Given the description of an element on the screen output the (x, y) to click on. 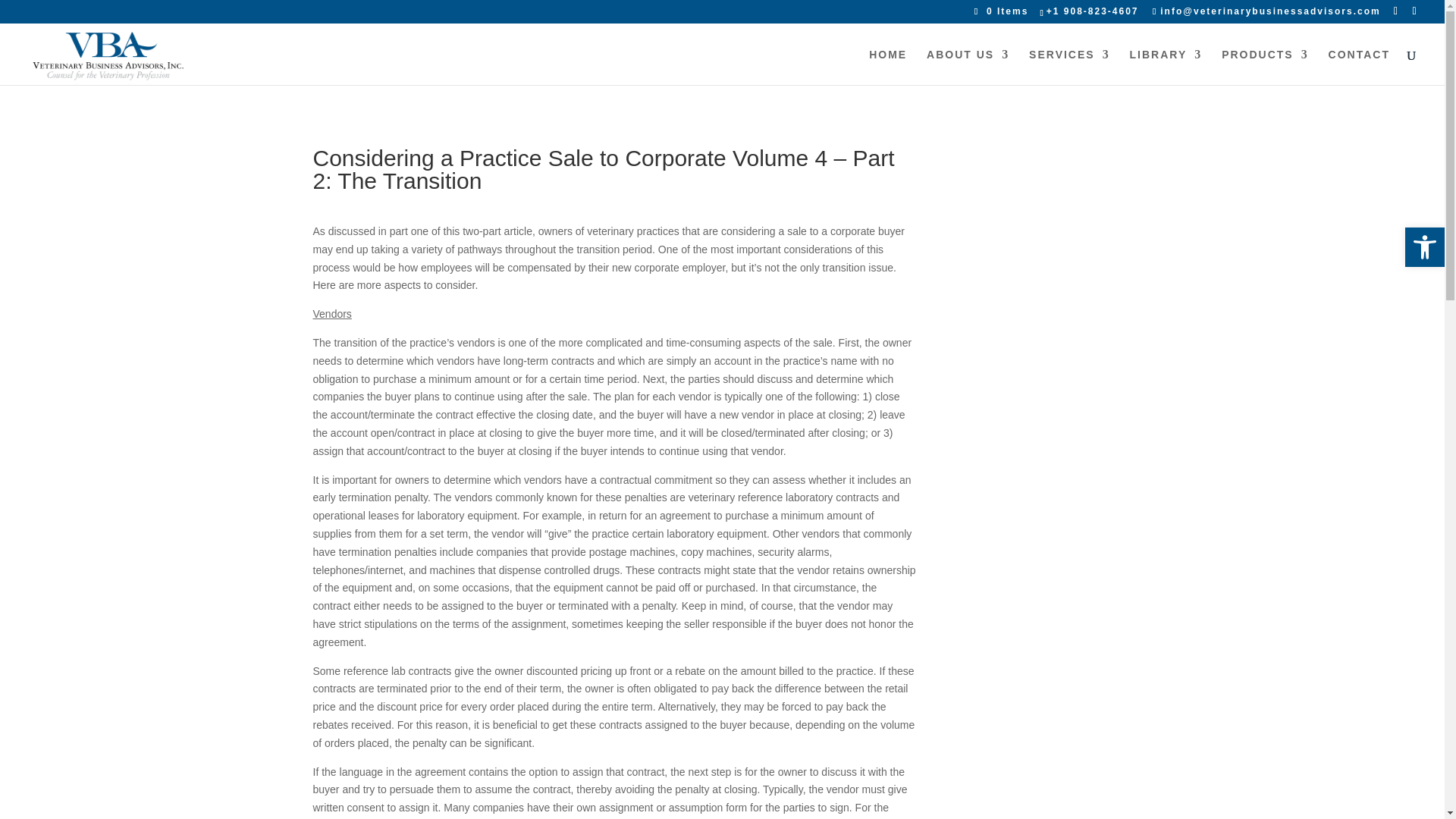
LIBRARY (1165, 67)
HOME (888, 67)
CONTACT (1358, 67)
ABOUT US (967, 67)
0 Items (1001, 10)
PRODUCTS (1264, 67)
Accessibility Tools (1424, 247)
SERVICES (1069, 67)
